Given the description of an element on the screen output the (x, y) to click on. 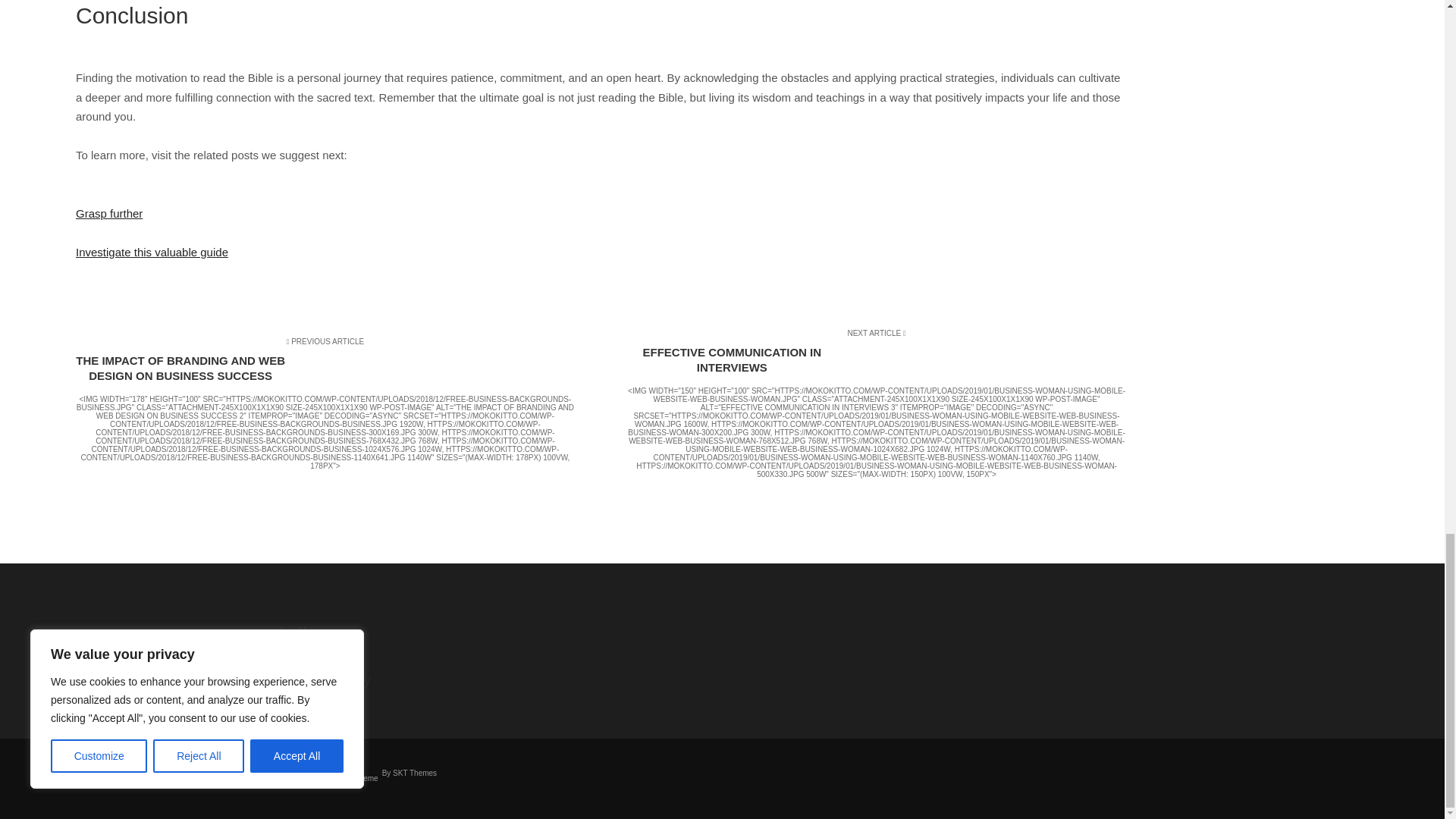
Grasp further (108, 213)
Contact (379, 656)
About (379, 631)
Investigate this valuable guide (151, 251)
